Given the description of an element on the screen output the (x, y) to click on. 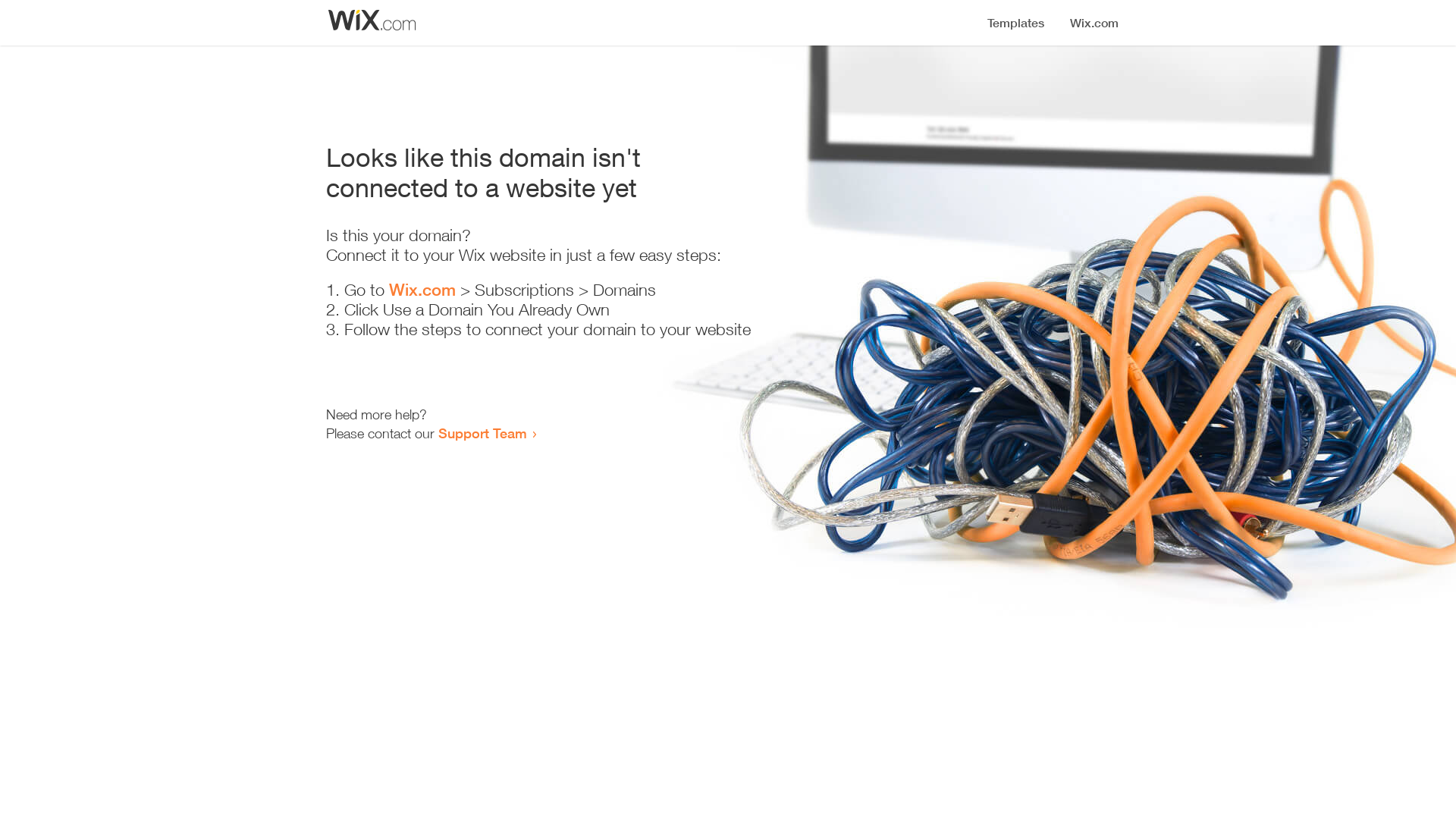
Wix.com Element type: text (422, 289)
Support Team Element type: text (482, 432)
